Given the description of an element on the screen output the (x, y) to click on. 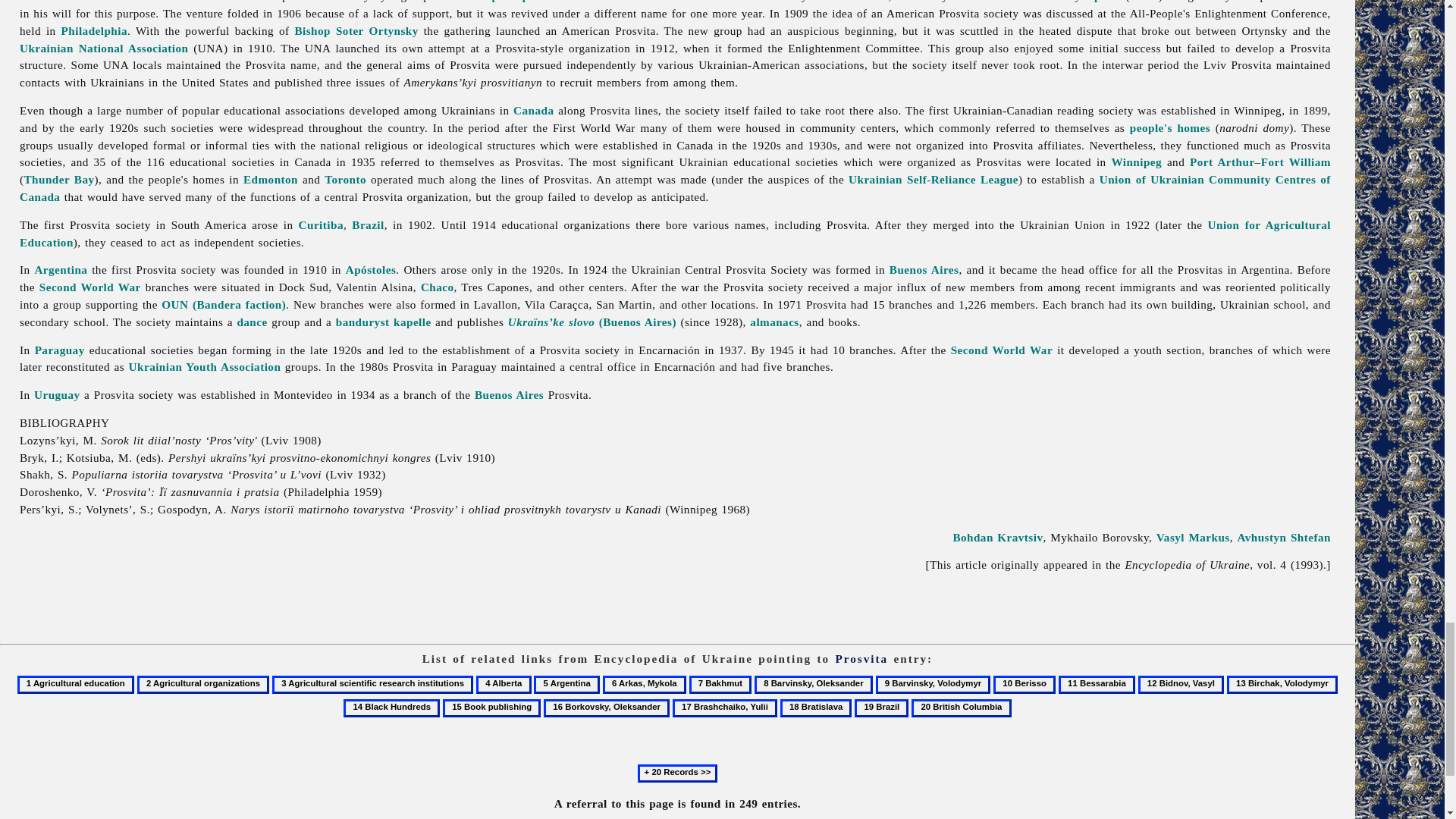
 15 Book publishing  (491, 708)
 17 Brashchaiko, Yulii  (724, 708)
 16 Borkovsky, Oleksander  (606, 708)
 5 Argentina  (566, 684)
 14 Black Hundreds  (391, 708)
 2 Agricultural organizations  (202, 684)
 11 Bessarabia  (1096, 684)
 7 Bakhmut  (720, 684)
 3 Agricultural scientific research institutions  (372, 684)
 1 Agricultural education  (75, 684)
 6 Arkas, Mykola  (643, 684)
 13 Birchak, Volodymyr  (1282, 684)
 4 Alberta  (503, 684)
 10 Berisso  (1023, 684)
 12 Bidnov, Vasyl  (1181, 684)
